Given the description of an element on the screen output the (x, y) to click on. 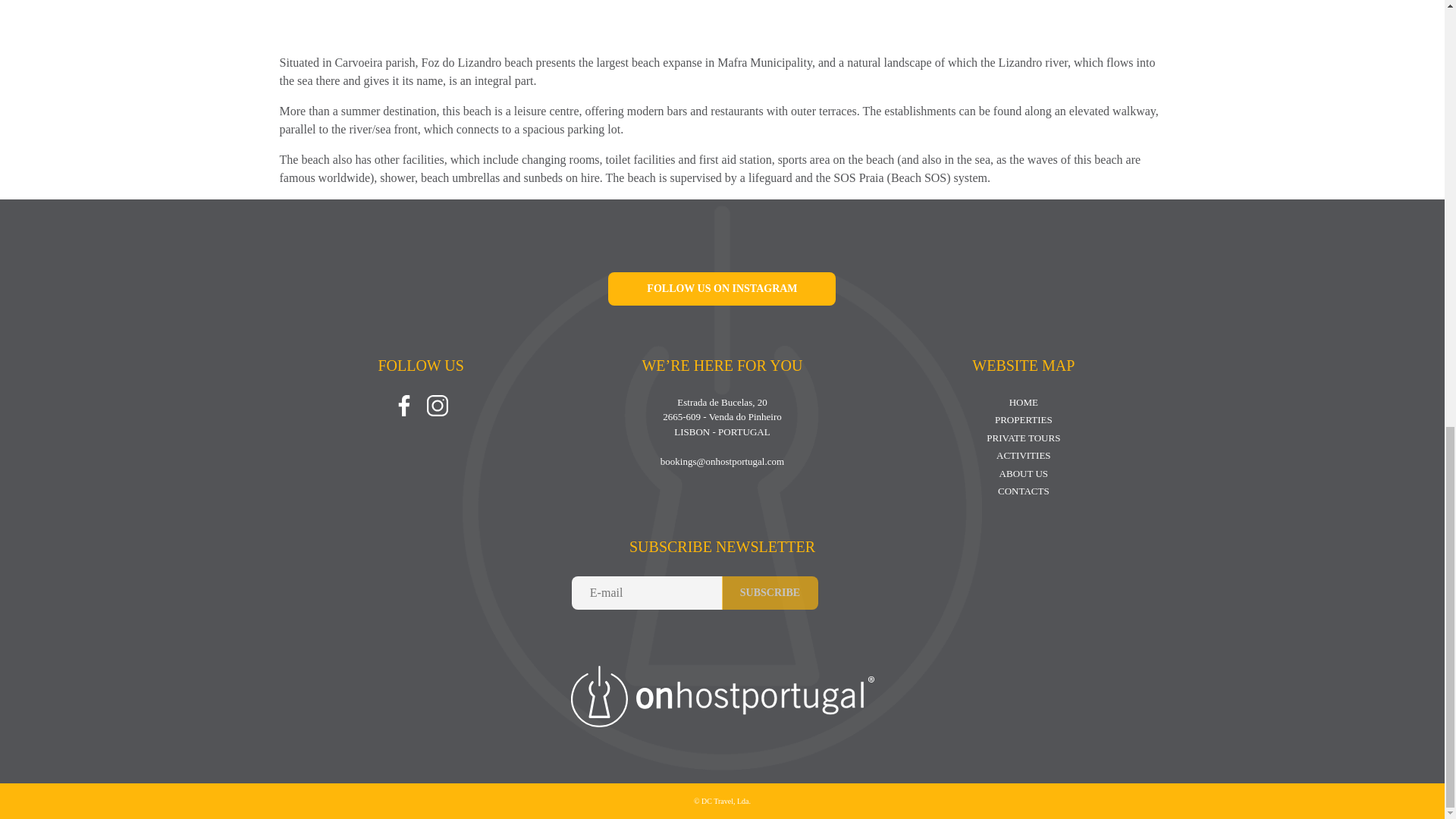
CONTACTS (1023, 490)
PROPERTIES (1023, 419)
HOME (1023, 401)
ABOUT US (1023, 473)
PRIVATE TOURS (1023, 437)
ACTIVITIES (1023, 455)
Subscribe (770, 592)
Subscribe (770, 592)
FOLLOW US ON INSTAGRAM (721, 288)
